Given the description of an element on the screen output the (x, y) to click on. 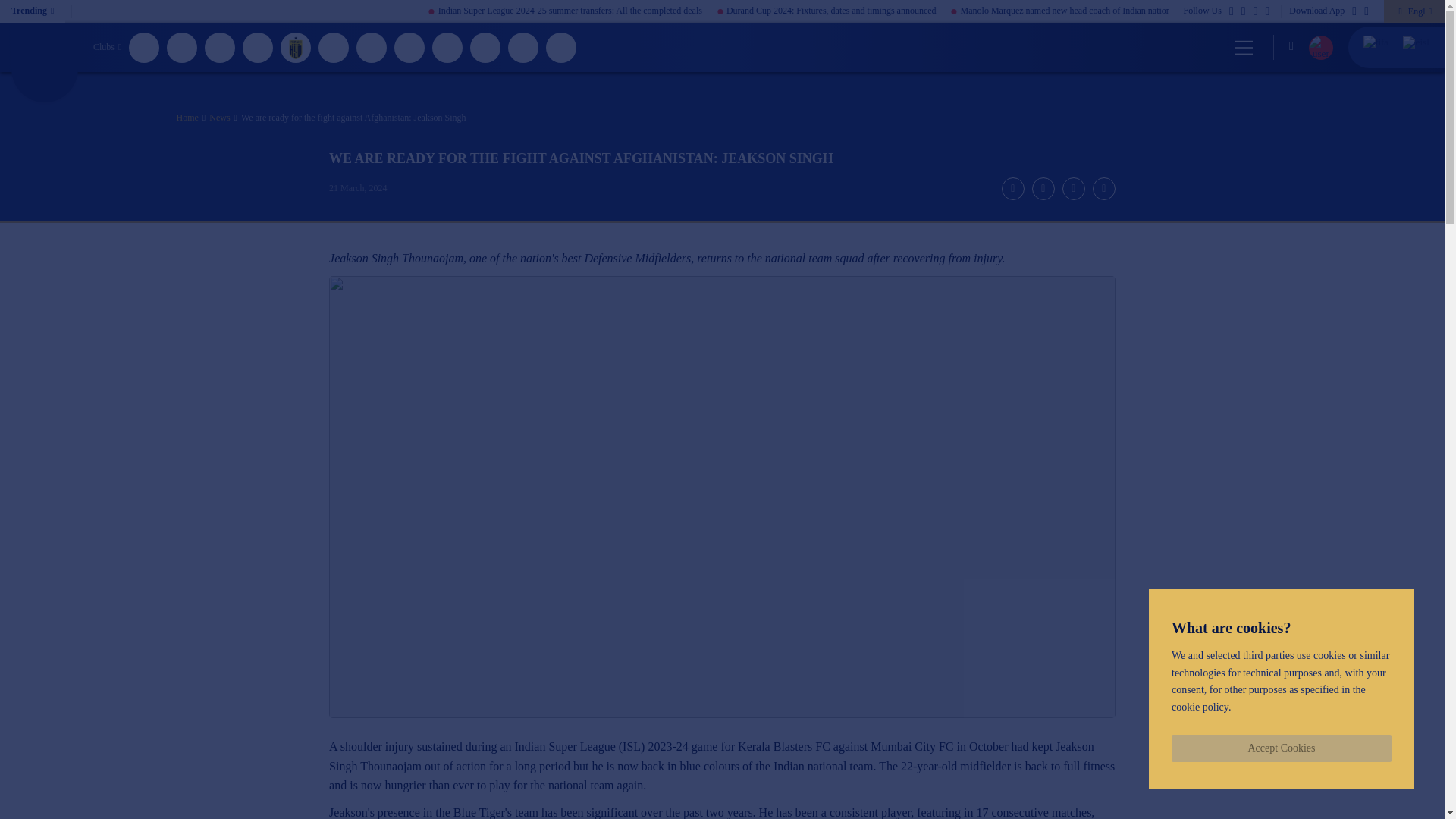
Durand Cup 2024: Fixtures, dates and timings announced (934, 11)
Punjab FC (561, 46)
Chennaiyin FC (181, 46)
FC Goa (258, 46)
Mohun Bagan Super Giant (409, 46)
Manolo Marquez named new head coach of Indian national team (1180, 11)
Jamshedpur FC (333, 46)
Hyderabad FC (296, 46)
Kerala Blasters FC (371, 46)
NorthEast United FC (485, 46)
Mumbai City FC (447, 46)
Bengaluru FC (143, 46)
Odisha FC (523, 46)
East Bengal FC (219, 46)
